Given the description of an element on the screen output the (x, y) to click on. 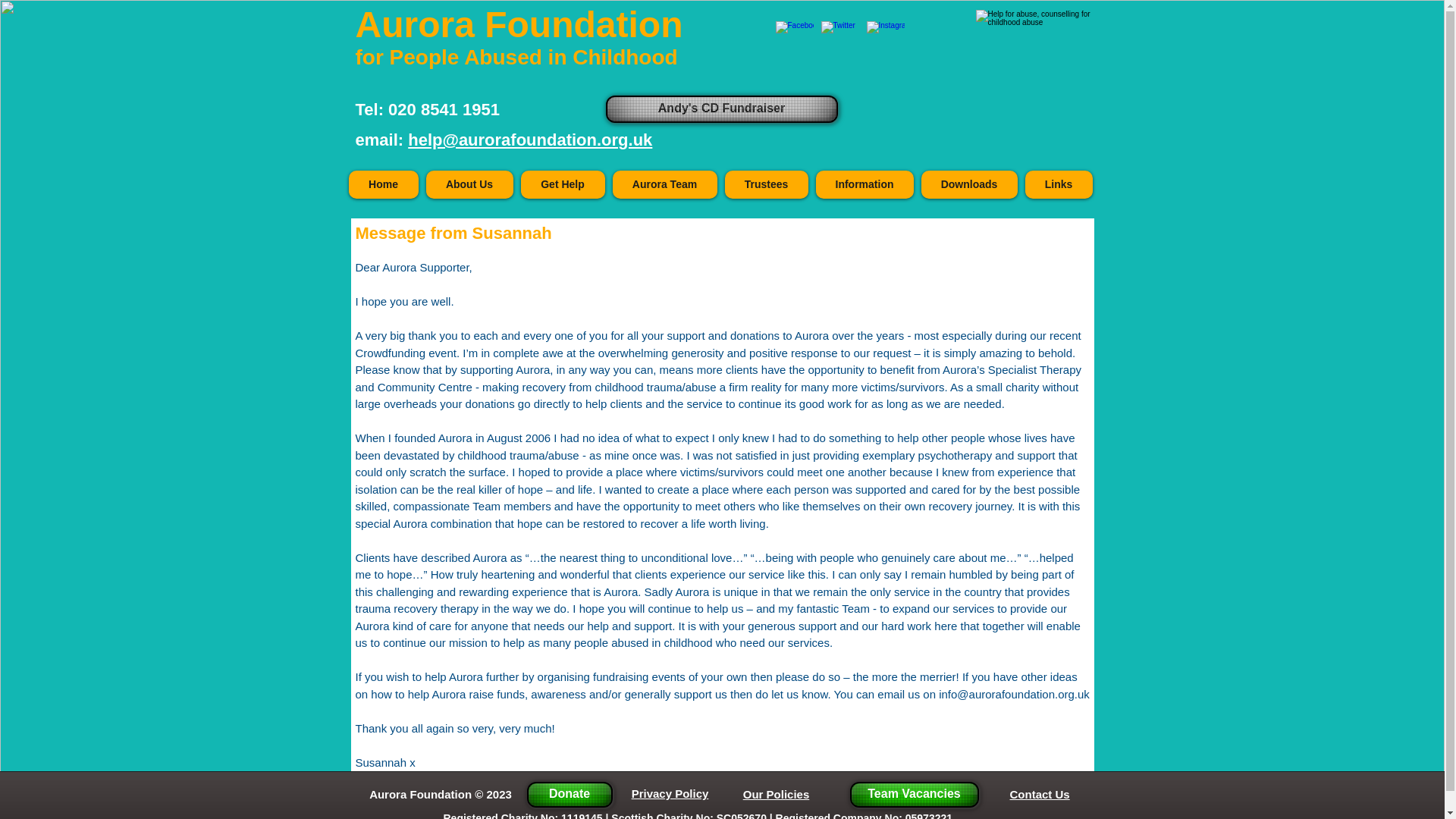
About Us (469, 184)
Information (864, 184)
Downloads (968, 184)
Get Help (561, 184)
Home (384, 184)
Andy's CD Fundraiser (721, 108)
Links (1059, 184)
Aurora Team (664, 184)
Trustees (766, 184)
